Given the description of an element on the screen output the (x, y) to click on. 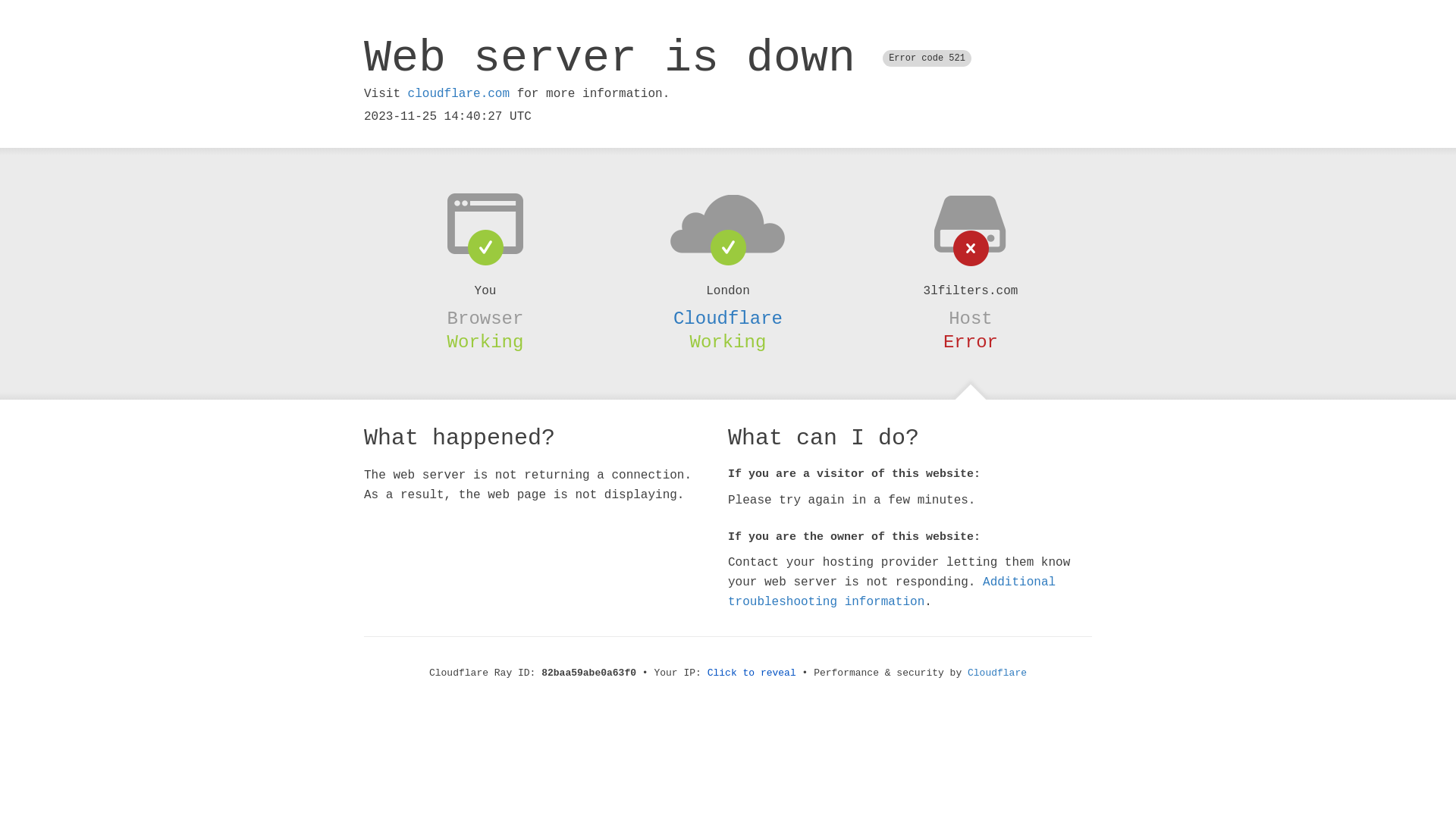
cloudflare.com Element type: text (458, 93)
Click to reveal Element type: text (751, 672)
Cloudflare Element type: text (996, 672)
Cloudflare Element type: text (727, 318)
Additional troubleshooting information Element type: text (891, 591)
